Given the description of an element on the screen output the (x, y) to click on. 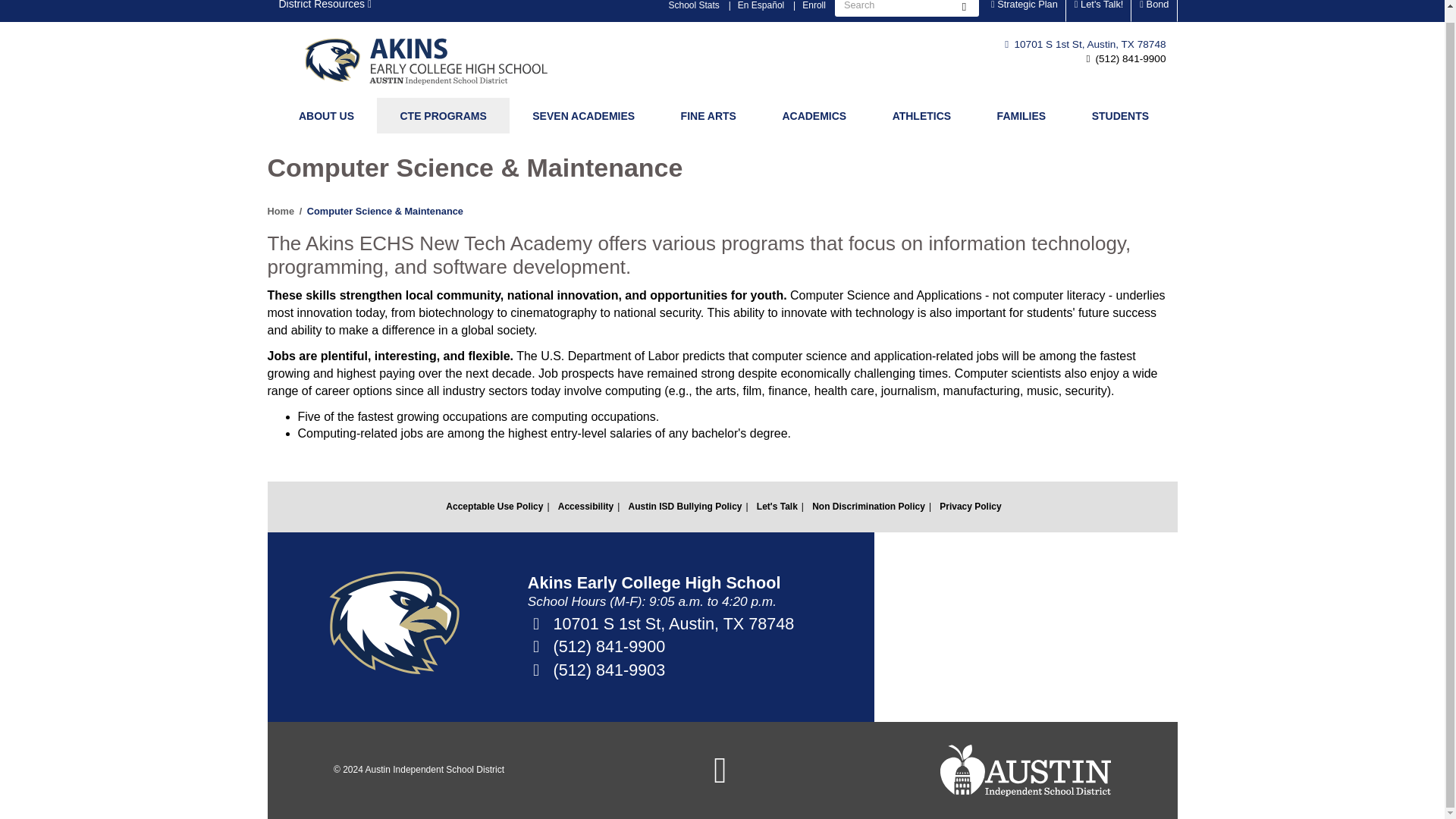
School Stats (693, 11)
Home (437, 59)
CTE PROGRAMS (442, 115)
Search (963, 8)
Enroll (813, 11)
ABOUT US (326, 115)
Akins Early College High School (437, 59)
Google Map to Akins Early College High School (1024, 626)
Visit Austin ISD's Website (1024, 770)
  10701 S 1st St, Austin, TX 78748 (1085, 43)
District Resources (324, 11)
